Given the description of an element on the screen output the (x, y) to click on. 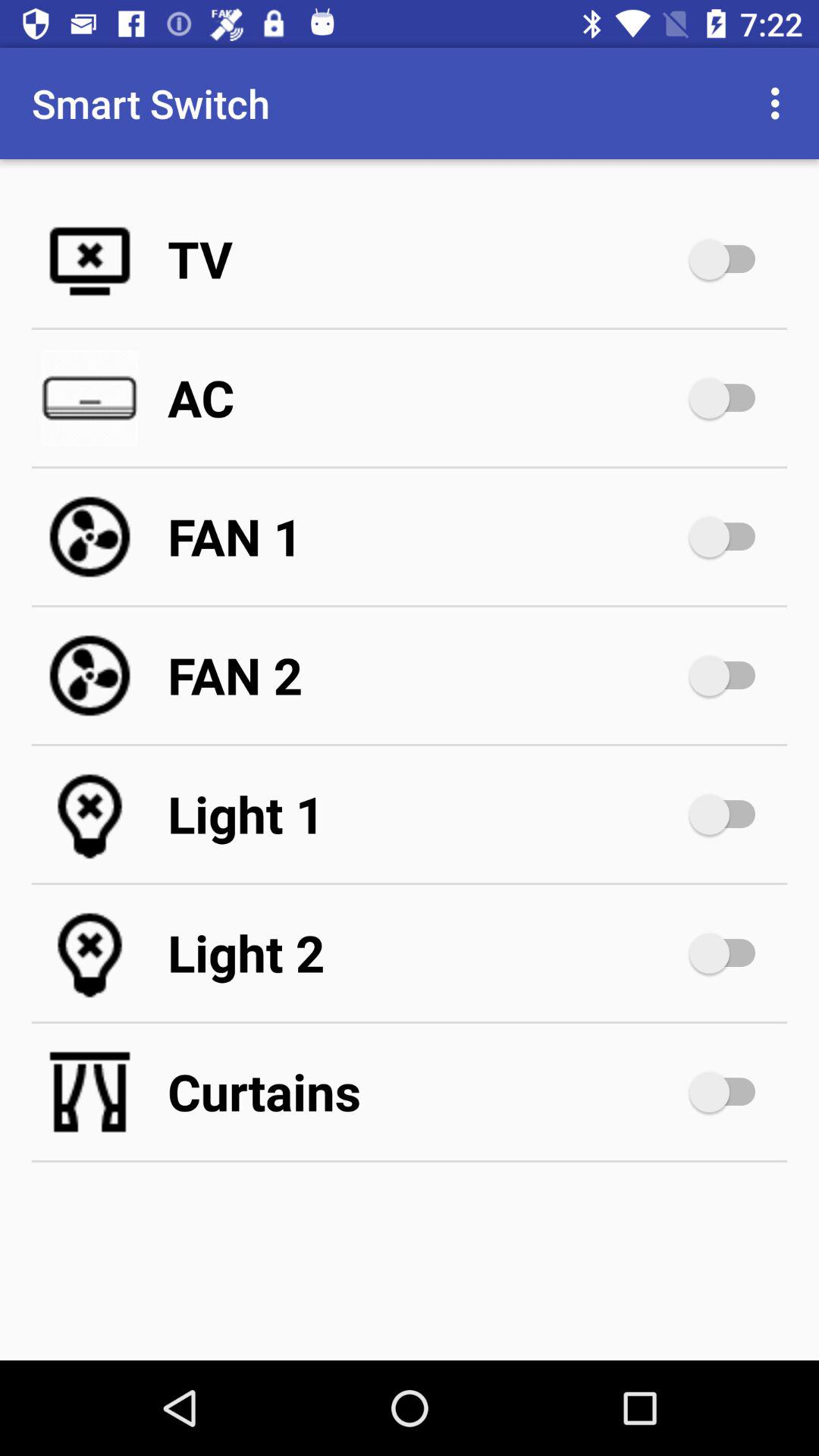
turn off/on (729, 536)
